Given the description of an element on the screen output the (x, y) to click on. 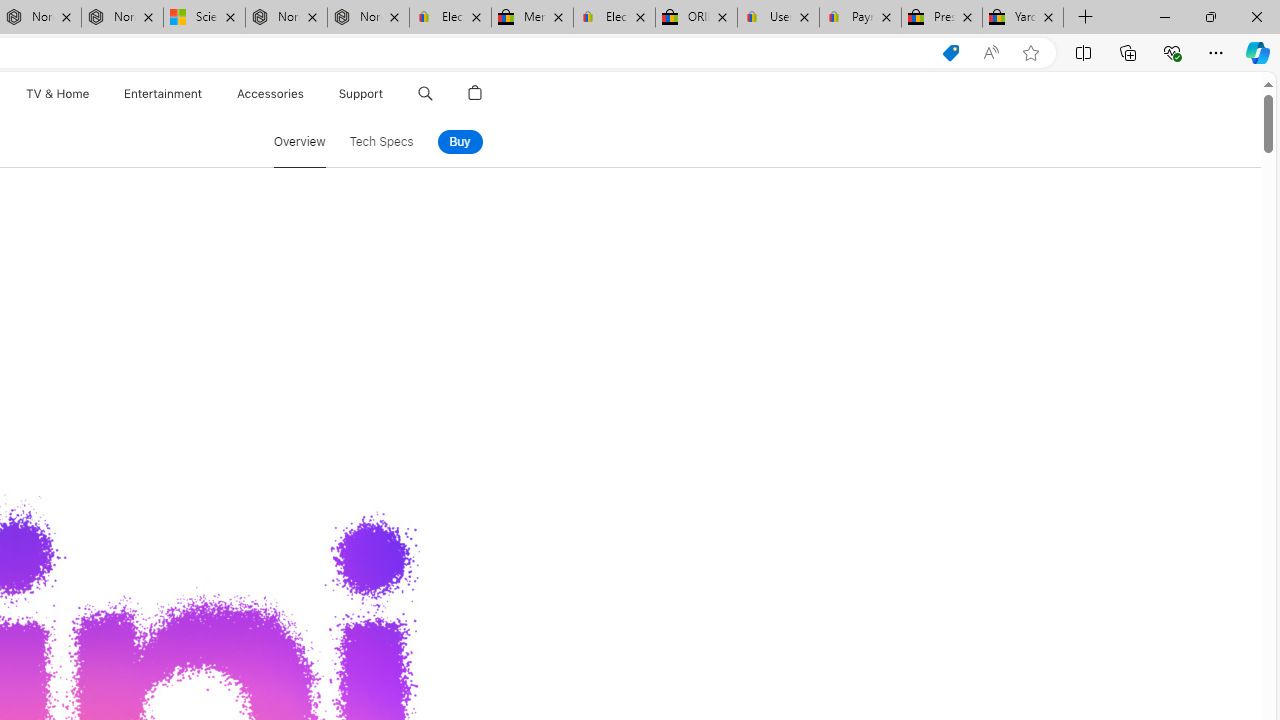
Yard, Garden & Outdoor Living (1023, 17)
